Given the description of an element on the screen output the (x, y) to click on. 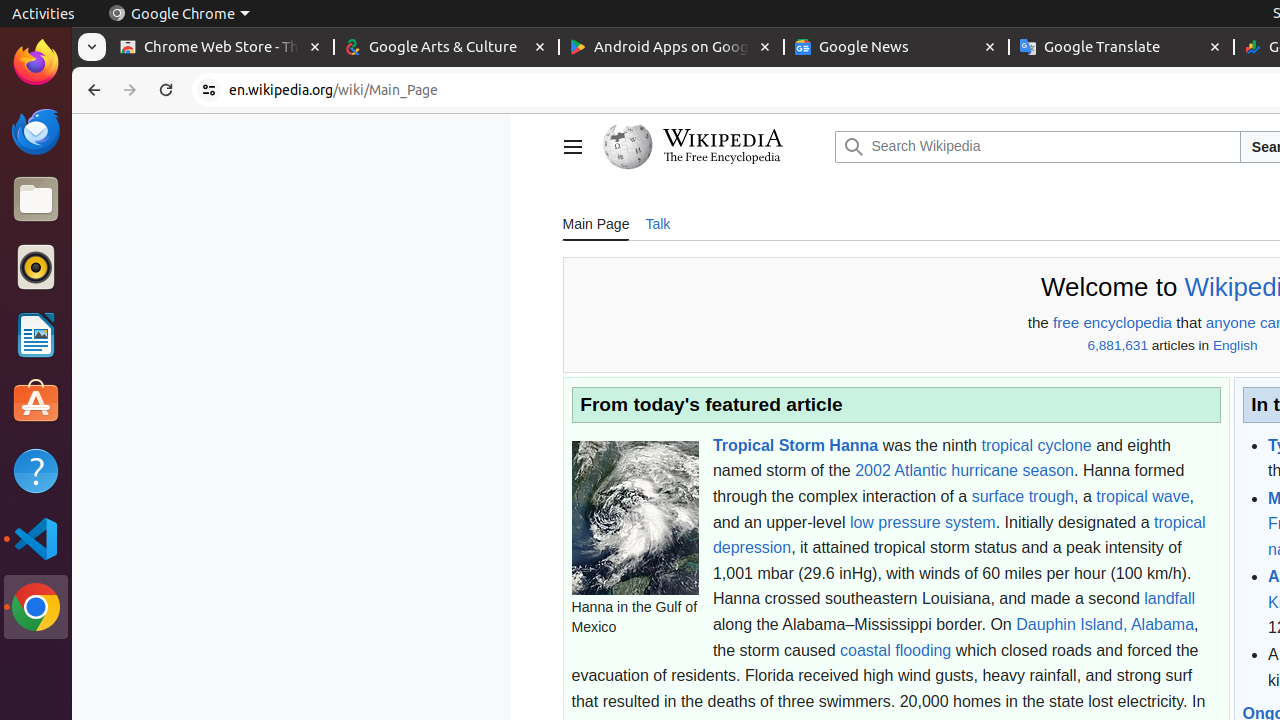
coastal flooding Element type: link (896, 650)
View site information Element type: push-button (209, 90)
Google News - Memory usage - 55.6 MB Element type: page-tab (896, 47)
free Element type: link (1066, 323)
Files Element type: push-button (36, 199)
